Given the description of an element on the screen output the (x, y) to click on. 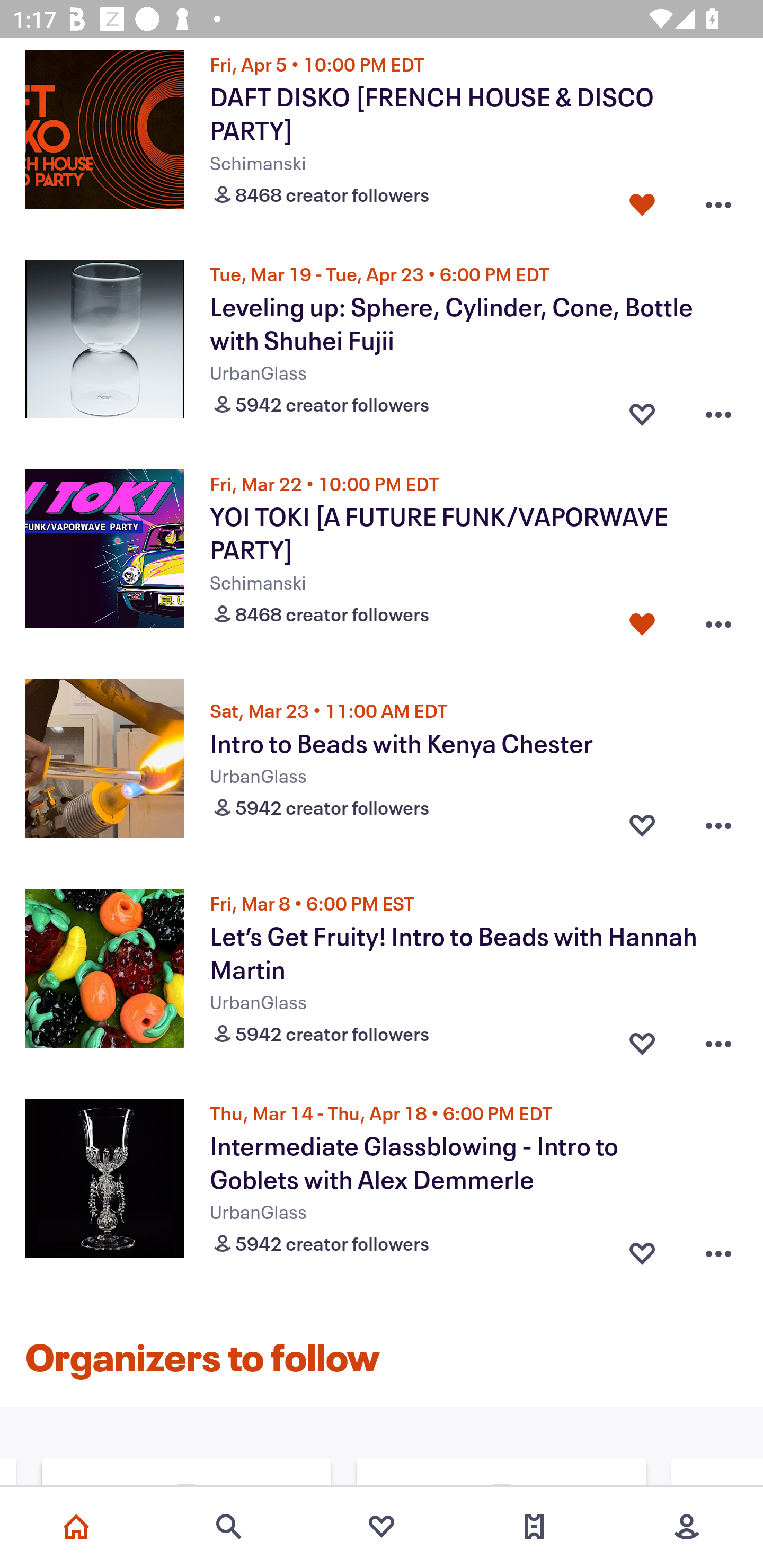
Favorite button (642, 199)
Overflow menu button (718, 199)
Favorite button (642, 409)
Overflow menu button (718, 409)
Favorite button (642, 619)
Overflow menu button (718, 619)
Favorite button (642, 825)
Overflow menu button (718, 825)
Favorite button (642, 1039)
Overflow menu button (718, 1039)
Favorite button (642, 1248)
Overflow menu button (718, 1248)
Home (76, 1526)
Search events (228, 1526)
Favorites (381, 1526)
Tickets (533, 1526)
More (686, 1526)
